Given the description of an element on the screen output the (x, y) to click on. 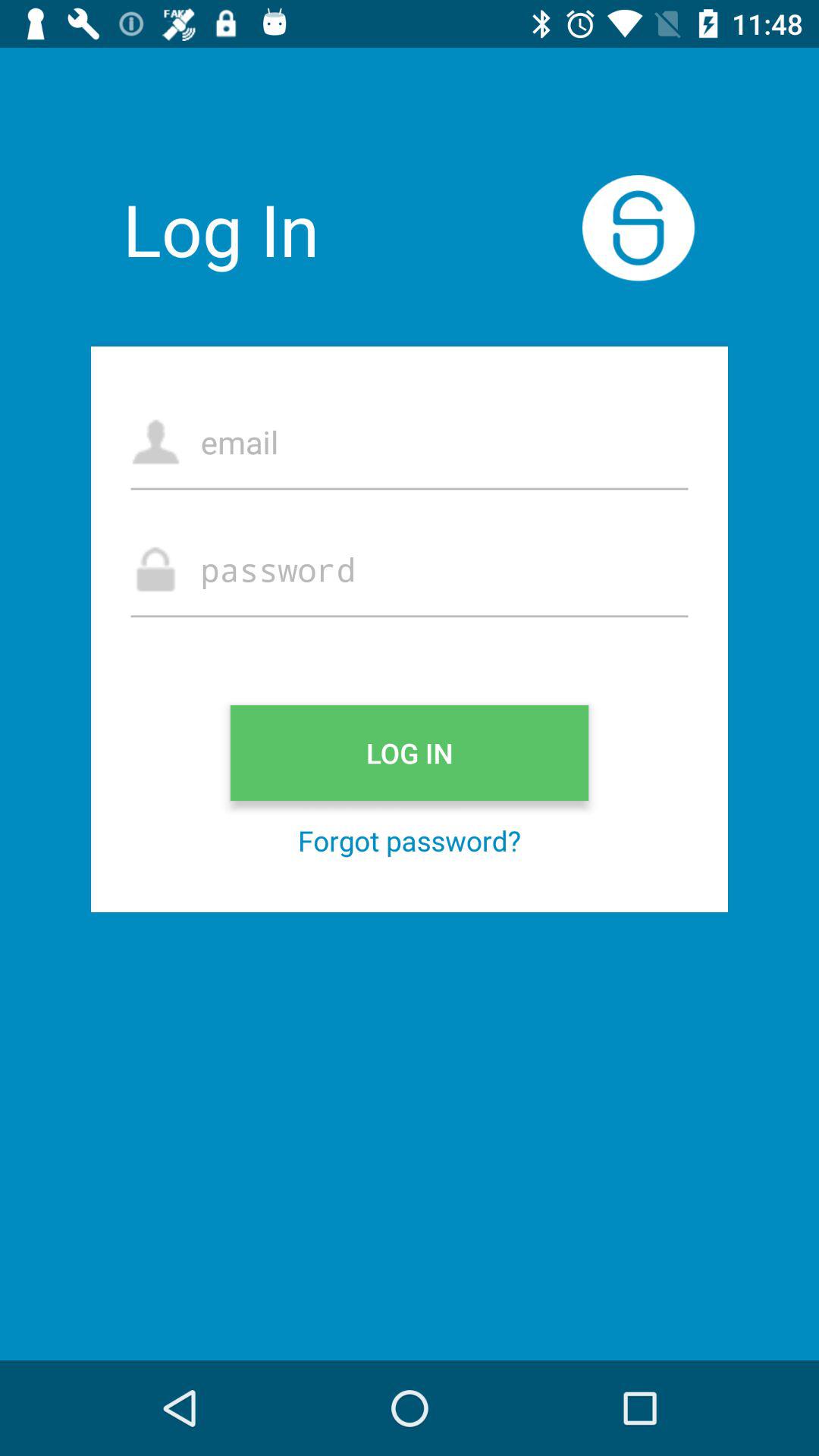
press forgot password? (409, 840)
